Given the description of an element on the screen output the (x, y) to click on. 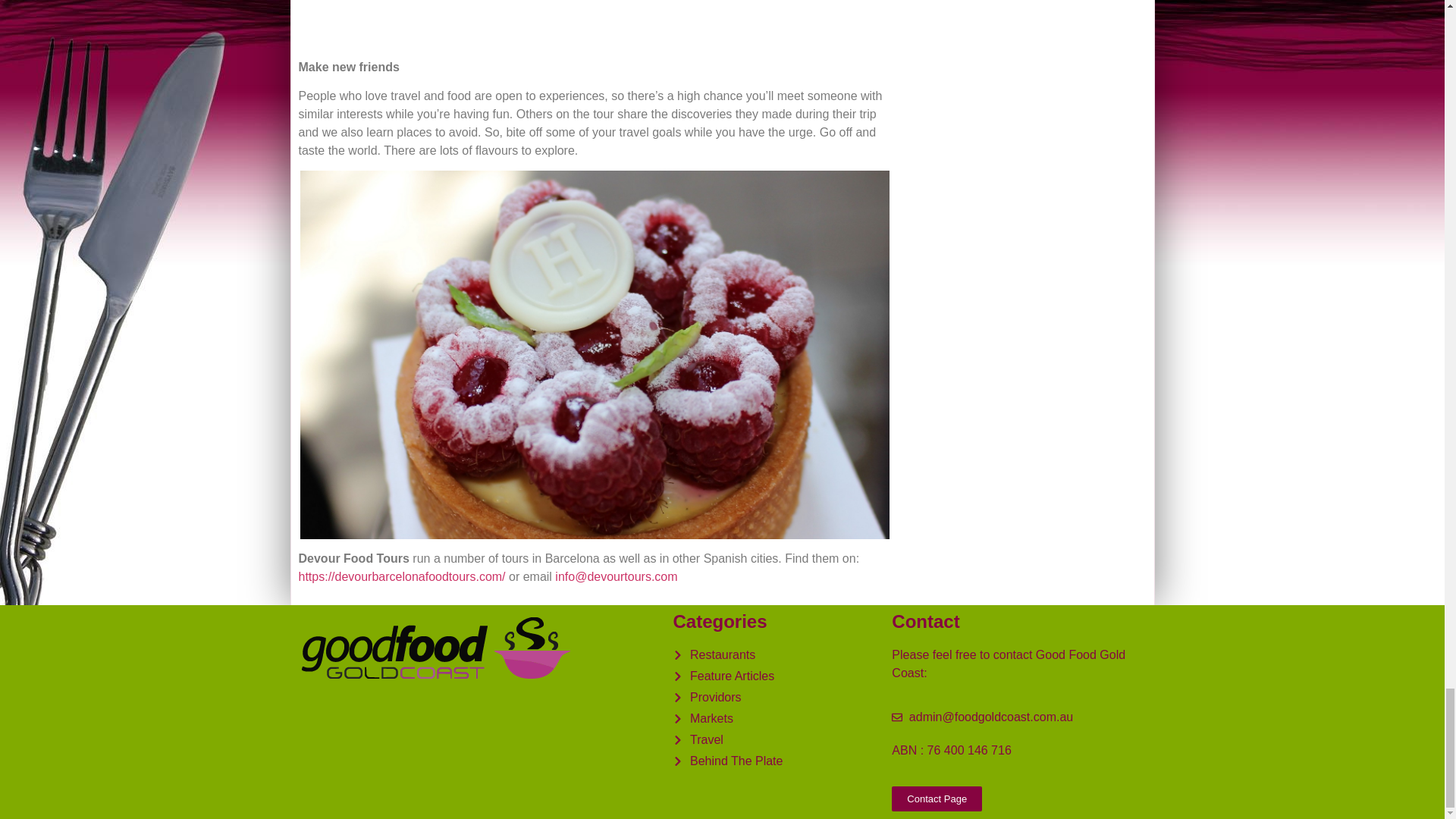
Restaurants (774, 655)
Feature Articles (774, 676)
